Given the description of an element on the screen output the (x, y) to click on. 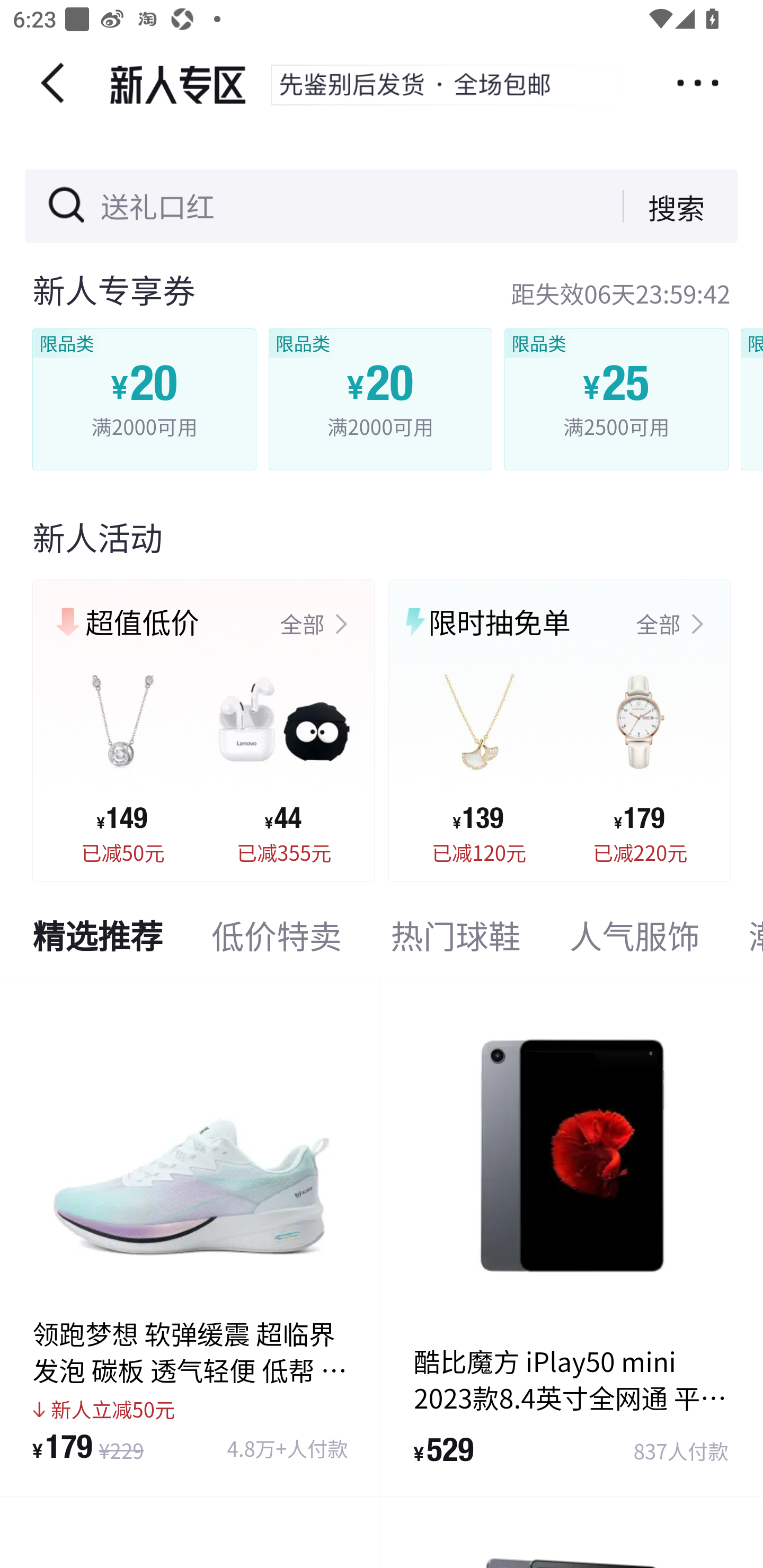
情侣短袖 送礼口红 (206, 206)
搜索 (663, 205)
¥ 20 满2000可用 限品类 (144, 399)
¥ 20 满2000可用 限品类 (379, 399)
¥ 25 满2500可用 限品类 (616, 399)
resize,w_200 ¥149 已减50元 (122, 756)
resize,w_200 ¥44 已减355元 (283, 756)
resize,w_200 ¥139 已减120元 (479, 756)
resize,w_200 ¥179 已减220元 (639, 756)
精选推荐 (98, 939)
低价特卖 (276, 939)
热门球鞋 (455, 939)
人气服饰 (635, 939)
